Given the description of an element on the screen output the (x, y) to click on. 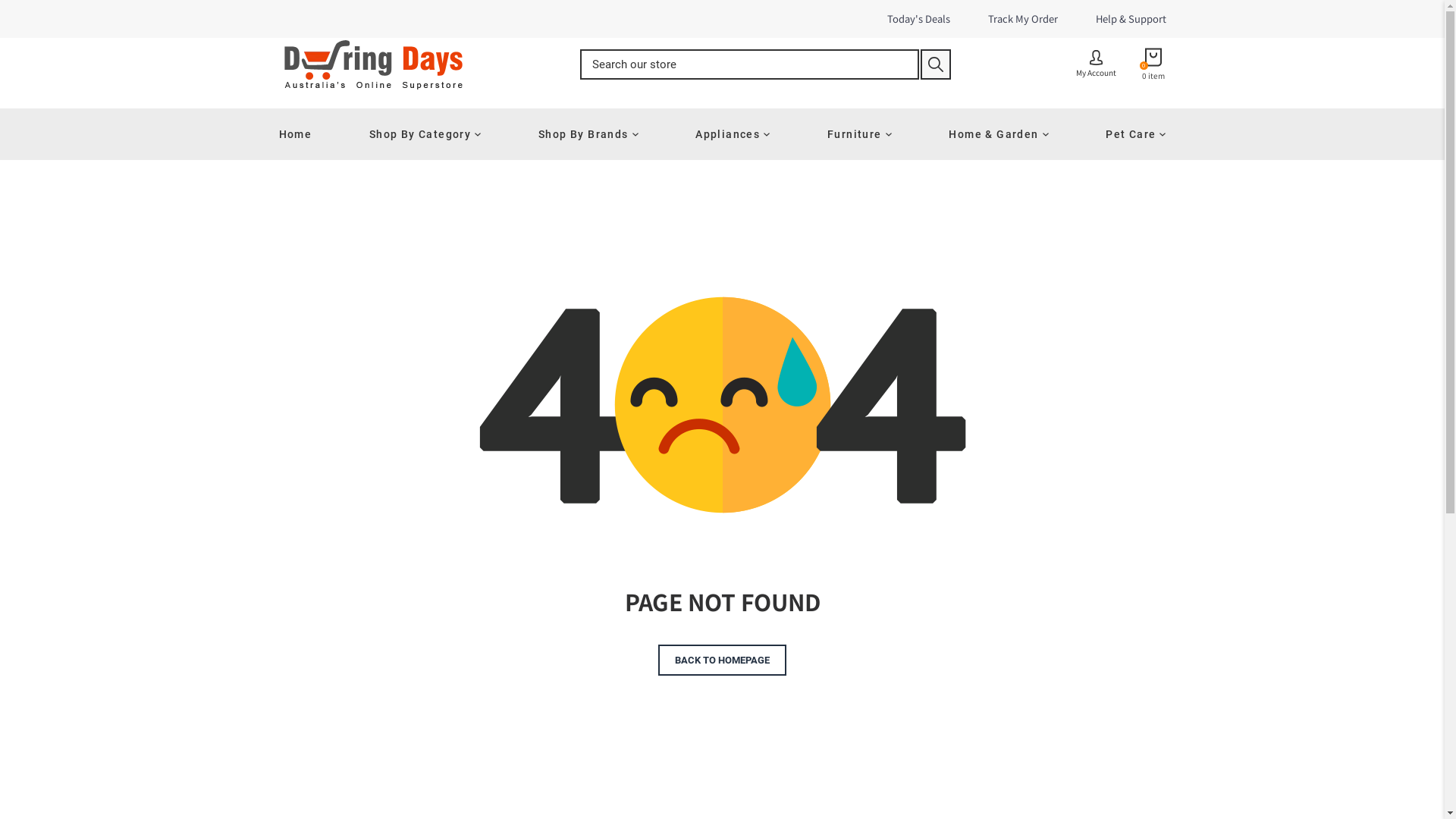
Furniture Element type: text (859, 134)
Today's Deals Element type: text (917, 18)
BACK TO HOMEPAGE Element type: text (722, 659)
Home Element type: text (306, 134)
Pet Care Element type: text (1124, 134)
My Account Element type: text (1096, 64)
Appliances Element type: text (732, 134)
Sign In Element type: text (723, 459)
Home & Garden Element type: text (998, 134)
Help & Support Element type: text (1130, 18)
Shop By Category Element type: text (424, 134)
0
0 item Element type: text (1152, 64)
Shop By Brands Element type: text (588, 134)
Track My Order Element type: text (1022, 18)
